Given the description of an element on the screen output the (x, y) to click on. 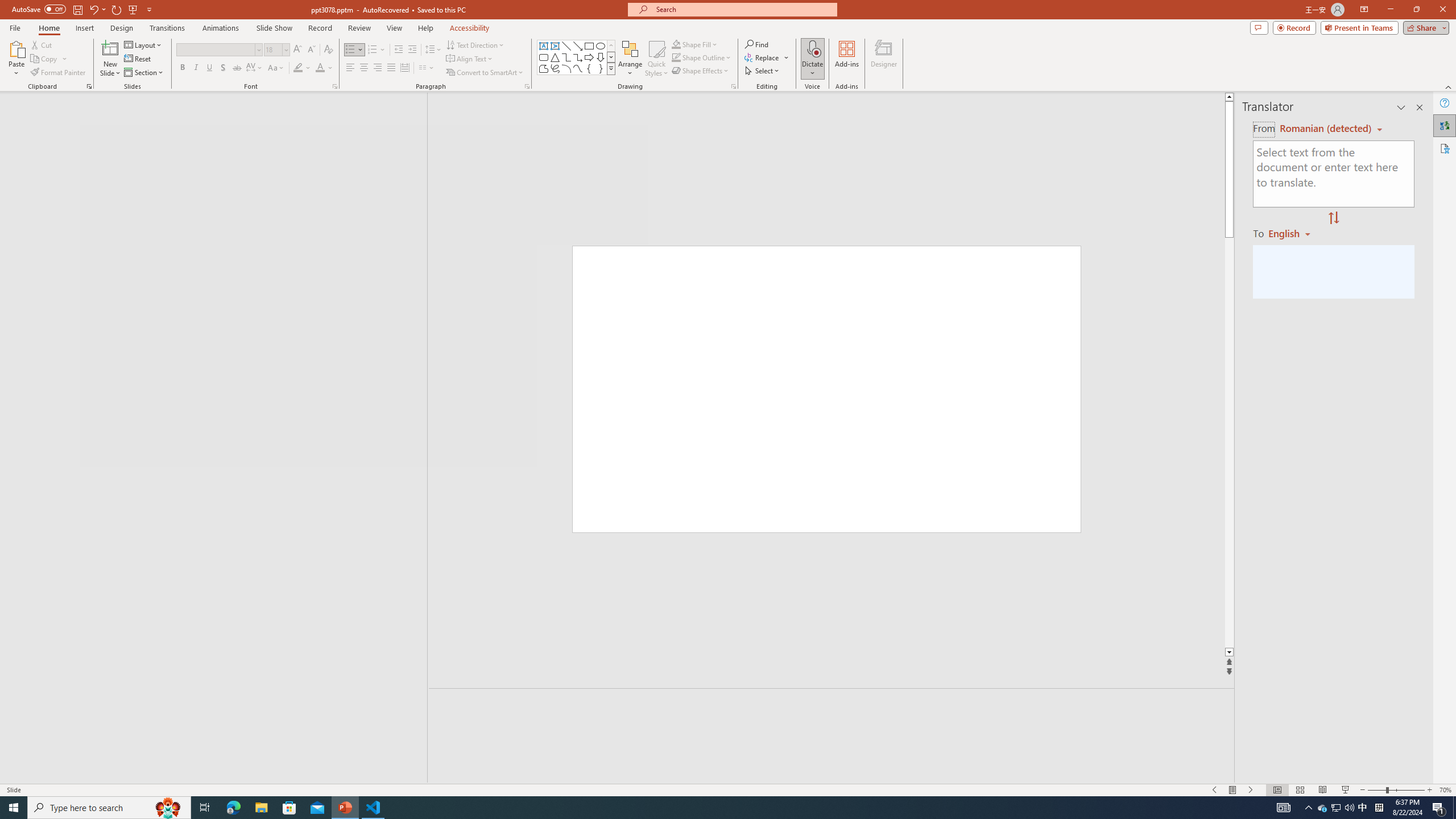
Shape Fill Dark Green, Accent 2 (675, 44)
